Given the description of an element on the screen output the (x, y) to click on. 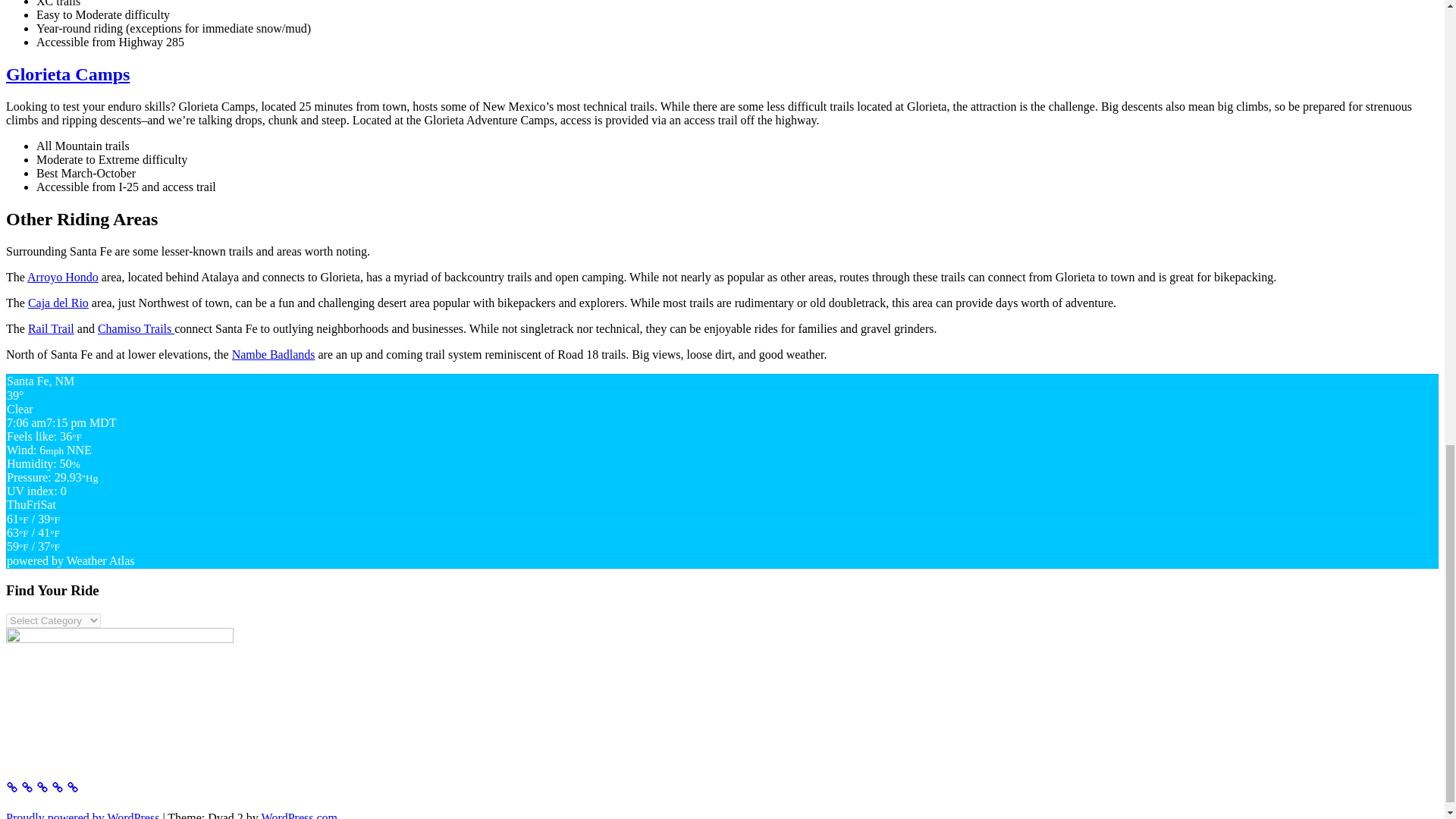
Arroyo Hondo (63, 277)
Chamiso Trails (135, 328)
Glorieta Camps (67, 74)
Caja del Rio (57, 302)
Mostly Sunny (33, 525)
Nambe Badlands (273, 354)
Rail Trail (50, 328)
Mostly Sunny (33, 539)
Cloudy (33, 545)
